Given the description of an element on the screen output the (x, y) to click on. 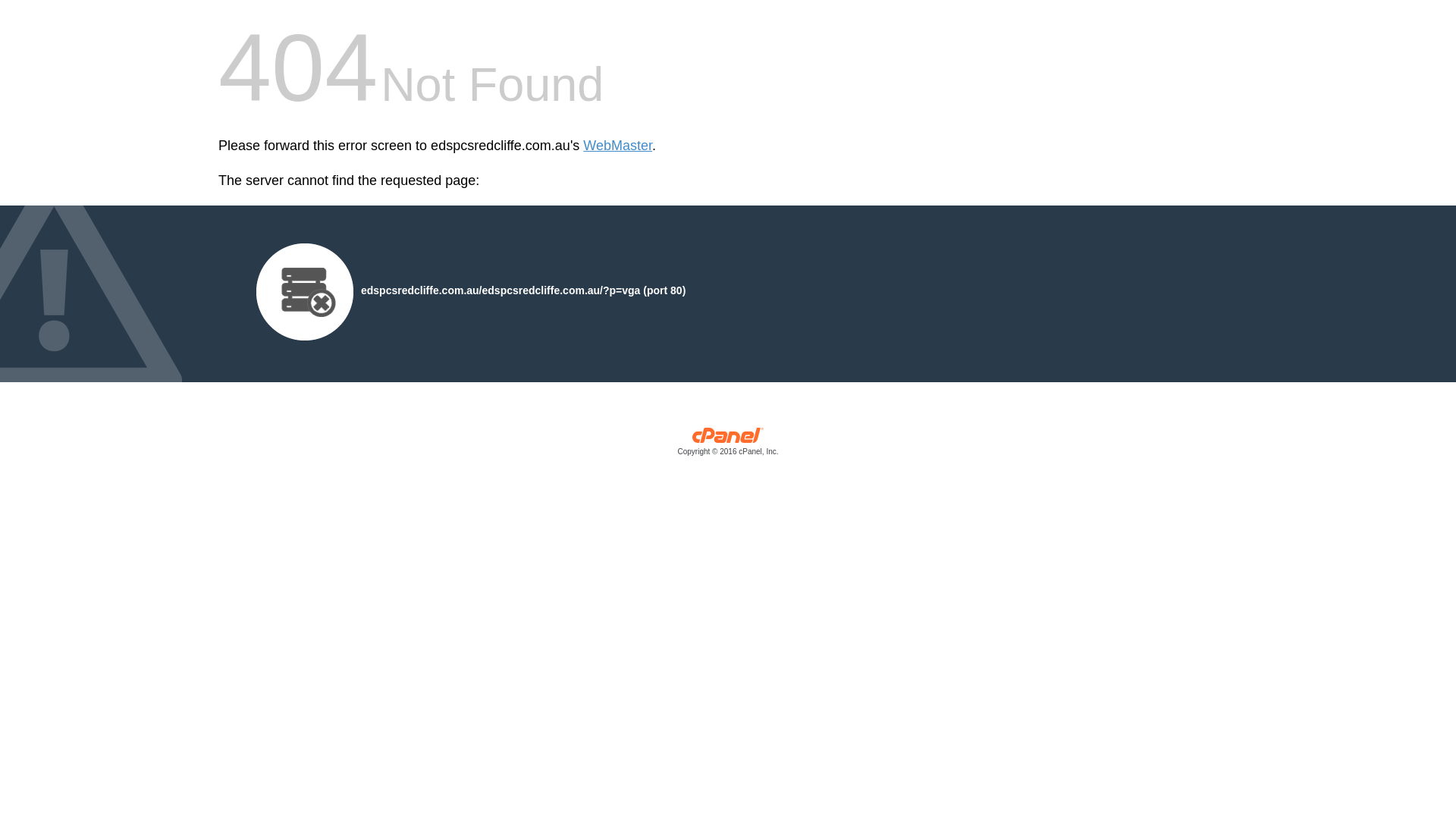
WebMaster Element type: text (617, 145)
